Given the description of an element on the screen output the (x, y) to click on. 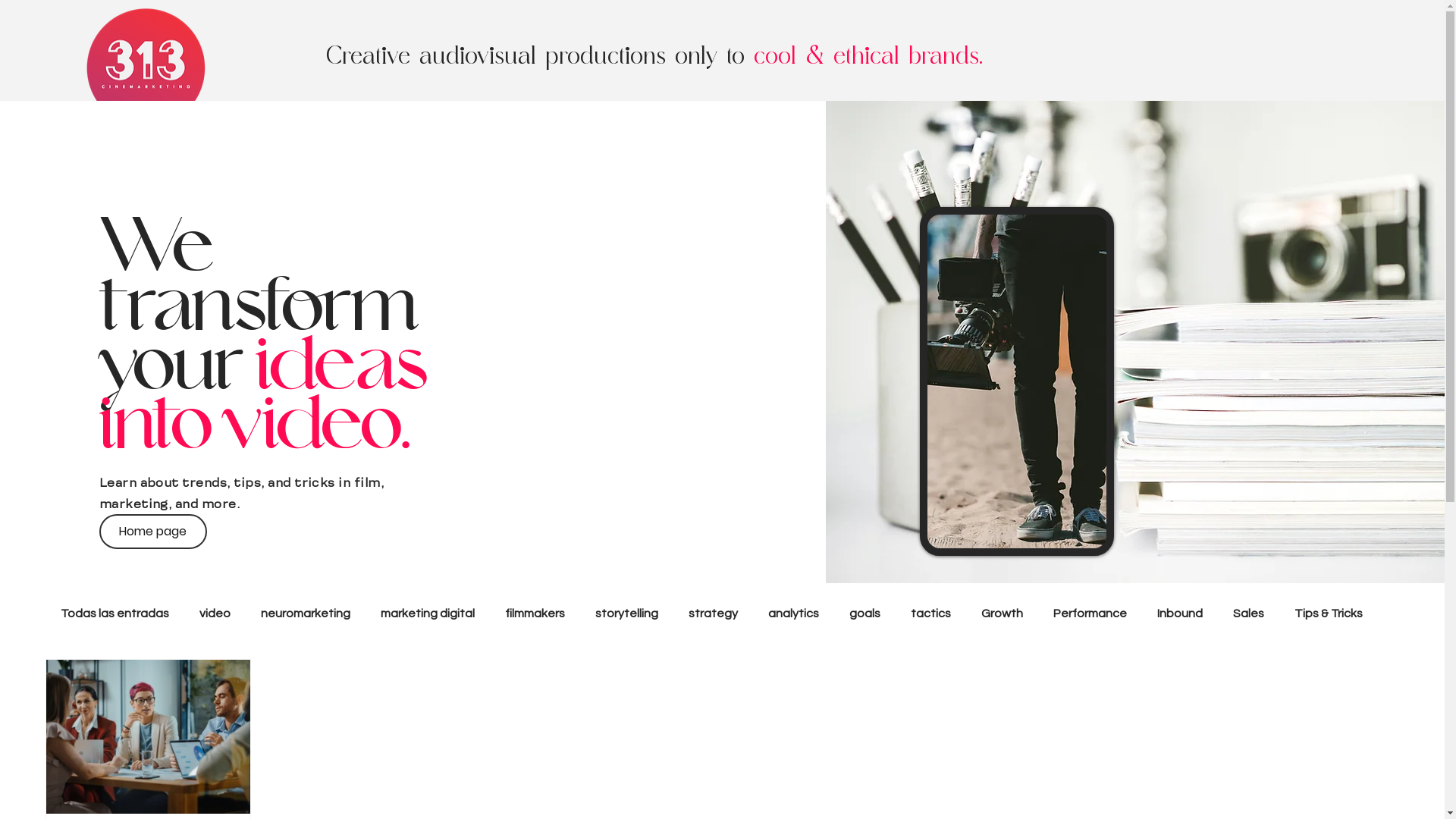
Home page Element type: text (153, 531)
Tips & Tricks Element type: text (1328, 613)
filmmakers Element type: text (534, 613)
analytics Element type: text (793, 613)
strategy Element type: text (712, 613)
Performance Element type: text (1089, 613)
storytelling Element type: text (626, 613)
neuromarketing Element type: text (305, 613)
marketing digital Element type: text (427, 613)
video Element type: text (214, 613)
goals Element type: text (864, 613)
Inbound Element type: text (1179, 613)
Growth Element type: text (1001, 613)
Todas las entradas Element type: text (114, 613)
tactics Element type: text (930, 613)
Sales Element type: text (1248, 613)
